Given the description of an element on the screen output the (x, y) to click on. 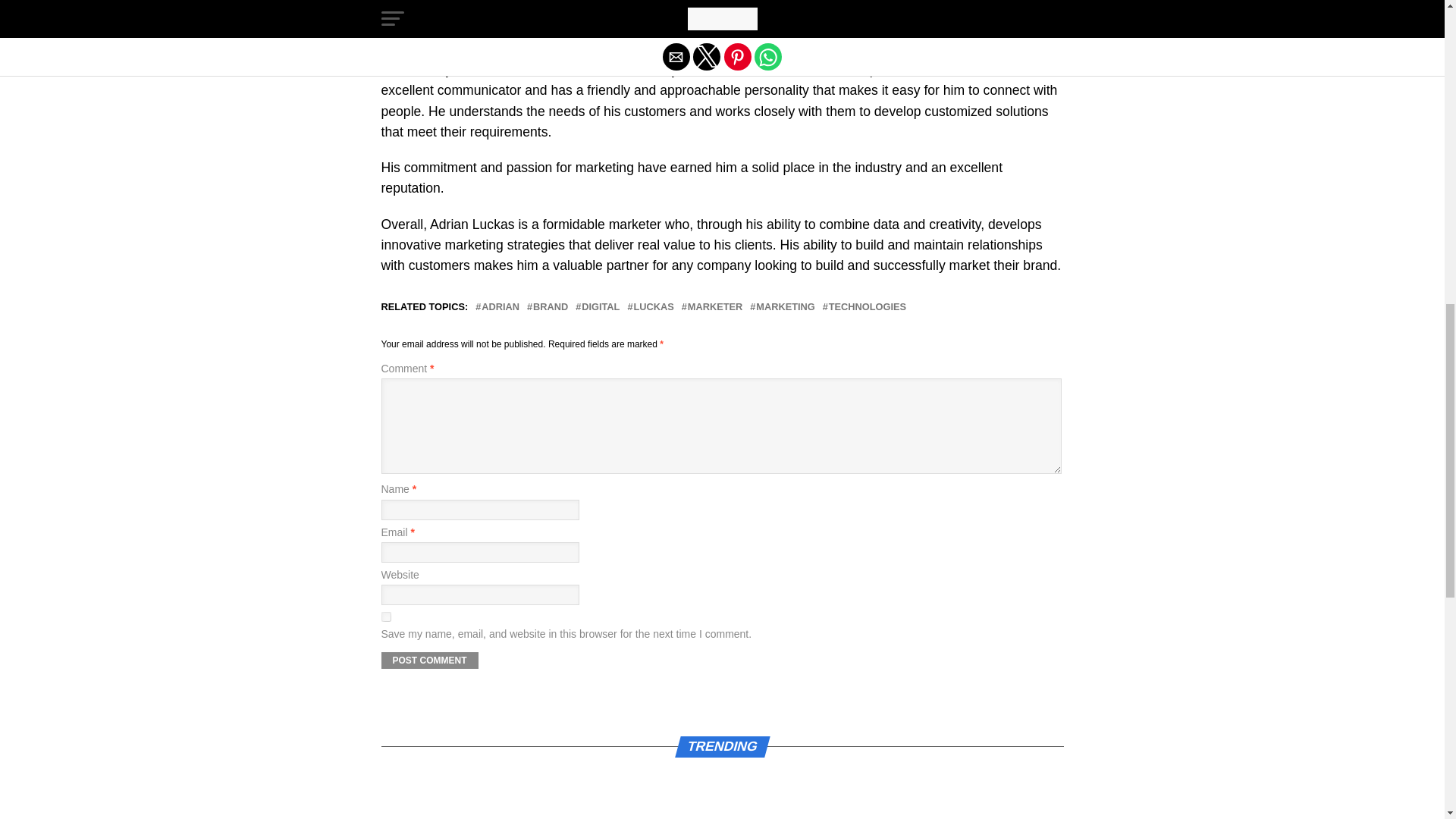
MARKETER (714, 307)
MARKETING (785, 307)
BRAND (549, 307)
yes (385, 616)
ADRIAN (500, 307)
DIGITAL (600, 307)
Post Comment (428, 660)
LUCKAS (652, 307)
Post Comment (428, 660)
TECHNOLOGIES (866, 307)
